Given the description of an element on the screen output the (x, y) to click on. 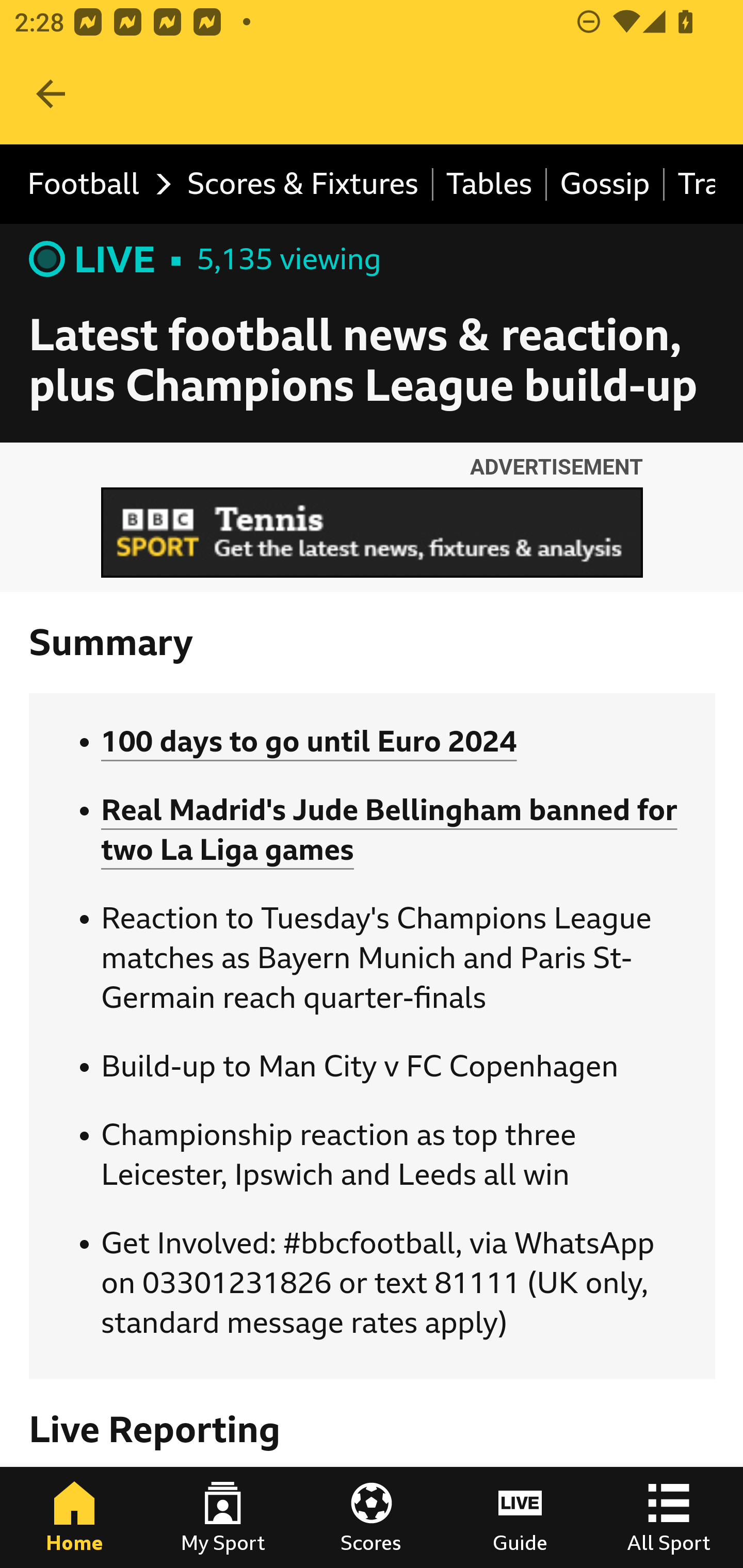
Navigate up (50, 93)
Football (94, 184)
Scores & Fixtures (303, 184)
Tables (490, 184)
Gossip (605, 184)
100 days to go until Euro 2024 (309, 742)
My Sport (222, 1517)
Scores (371, 1517)
Guide (519, 1517)
All Sport (668, 1517)
